Given the description of an element on the screen output the (x, y) to click on. 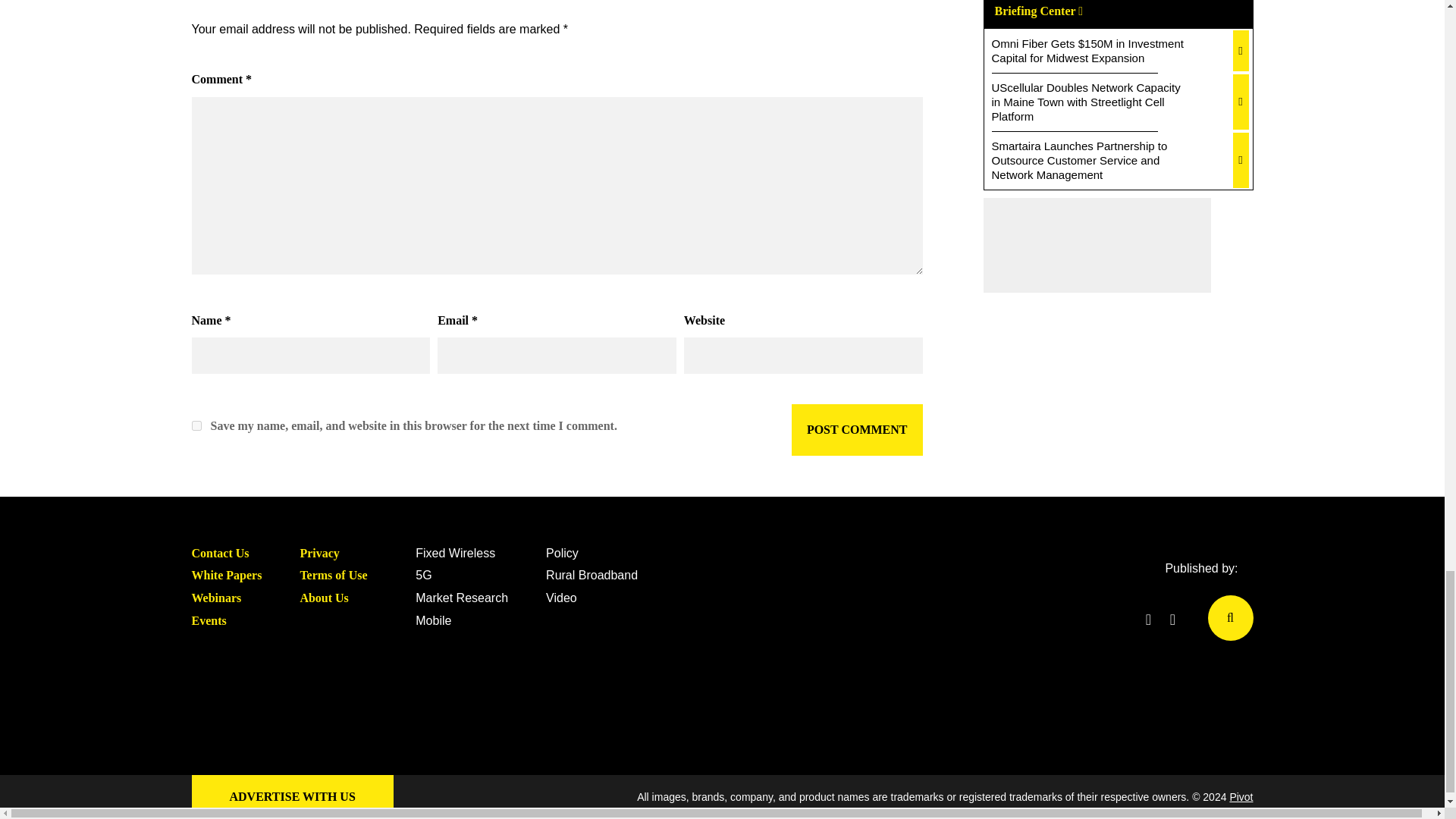
yes (195, 425)
Post Comment (857, 429)
